Given the description of an element on the screen output the (x, y) to click on. 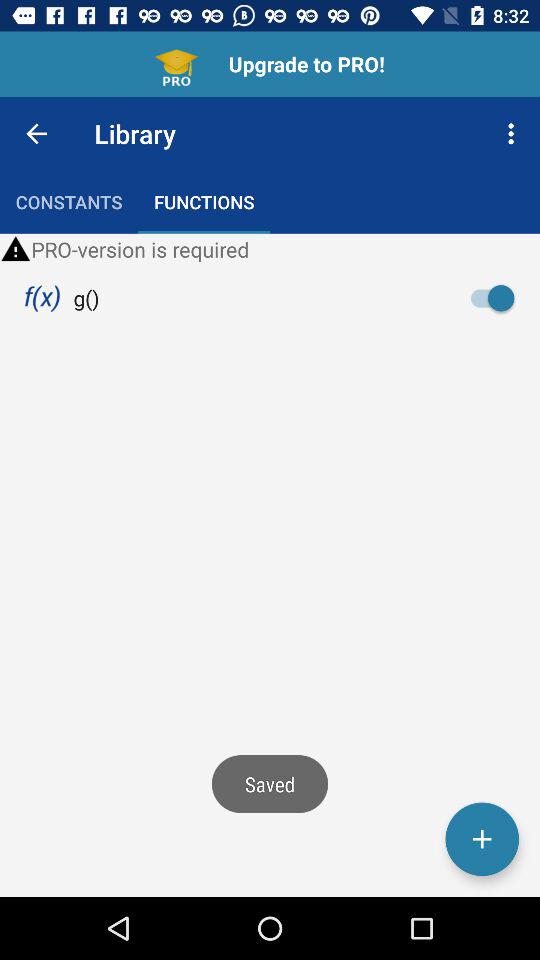
tap the item next to the library (513, 133)
